Given the description of an element on the screen output the (x, y) to click on. 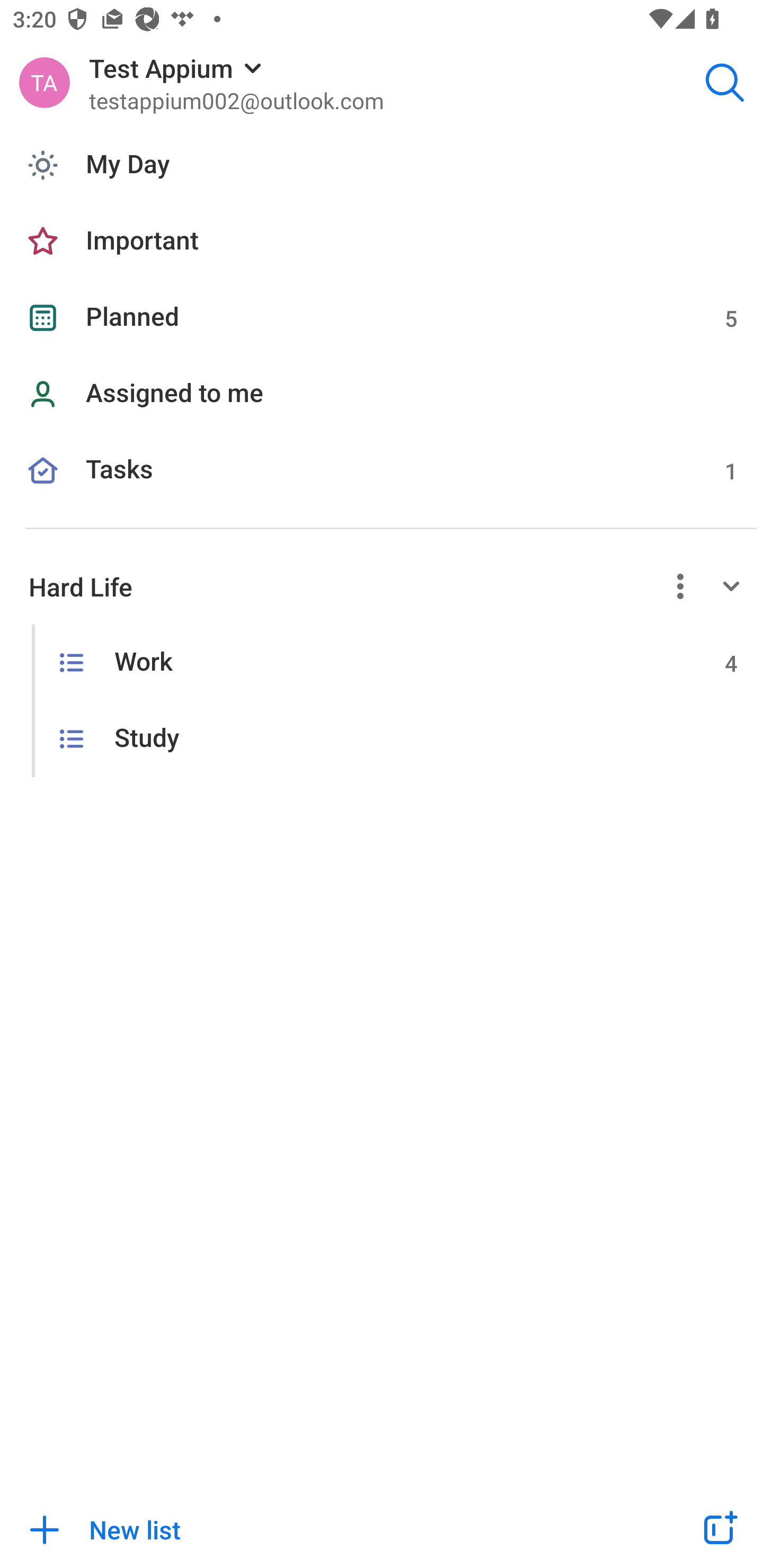
Work, 4 tasks Work 4 (381, 662)
